Given the description of an element on the screen output the (x, y) to click on. 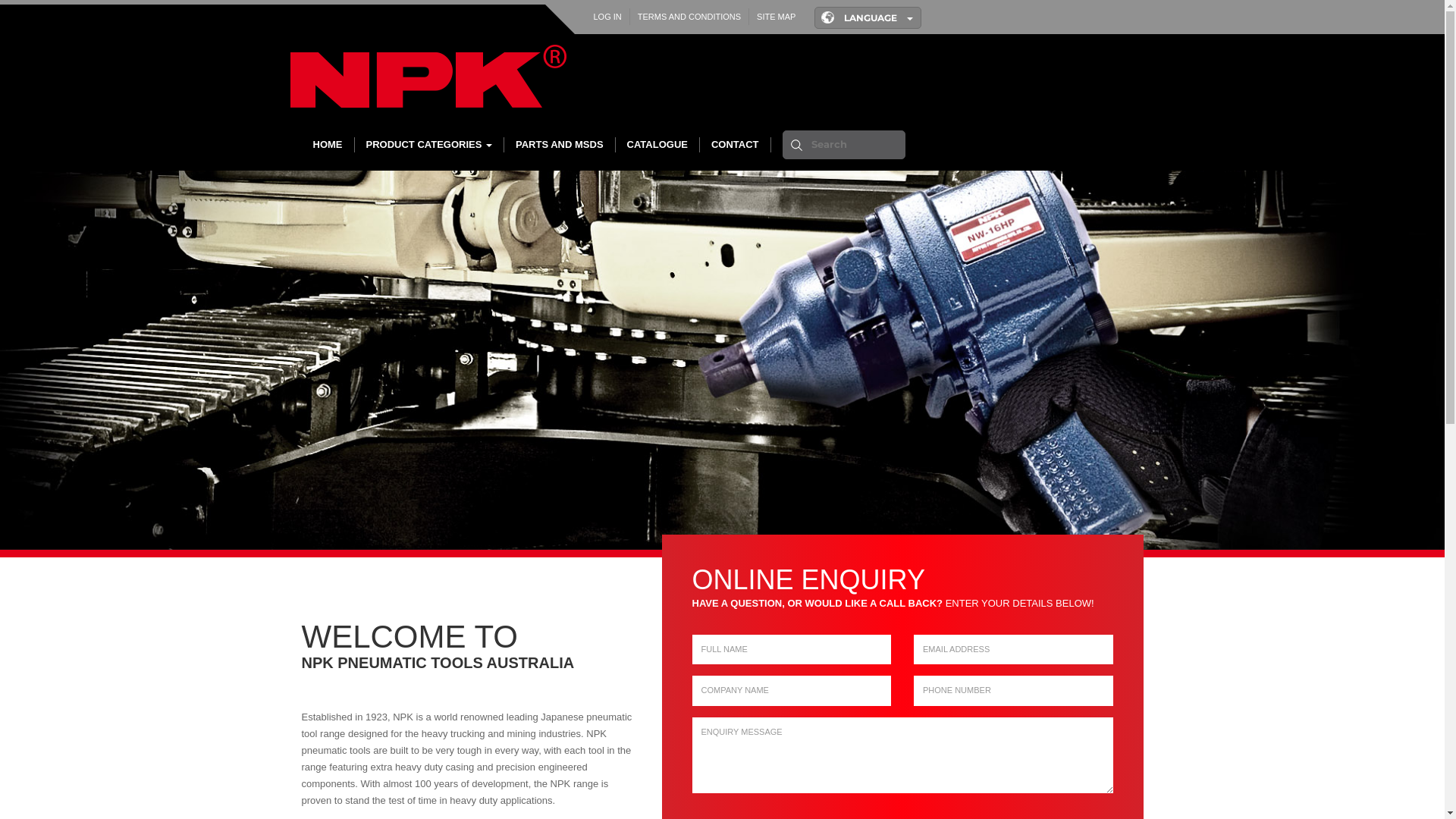
SITE MAP Element type: text (775, 16)
LANGUAGE Element type: text (867, 17)
HOME Element type: text (327, 144)
LOG IN Element type: text (606, 16)
CATALOGUE Element type: text (657, 144)
PRODUCT CATEGORIES Element type: text (429, 144)
CONTACT Element type: text (735, 144)
TERMS AND CONDITIONS Element type: text (688, 16)
PARTS AND MSDS Element type: text (559, 144)
